Given the description of an element on the screen output the (x, y) to click on. 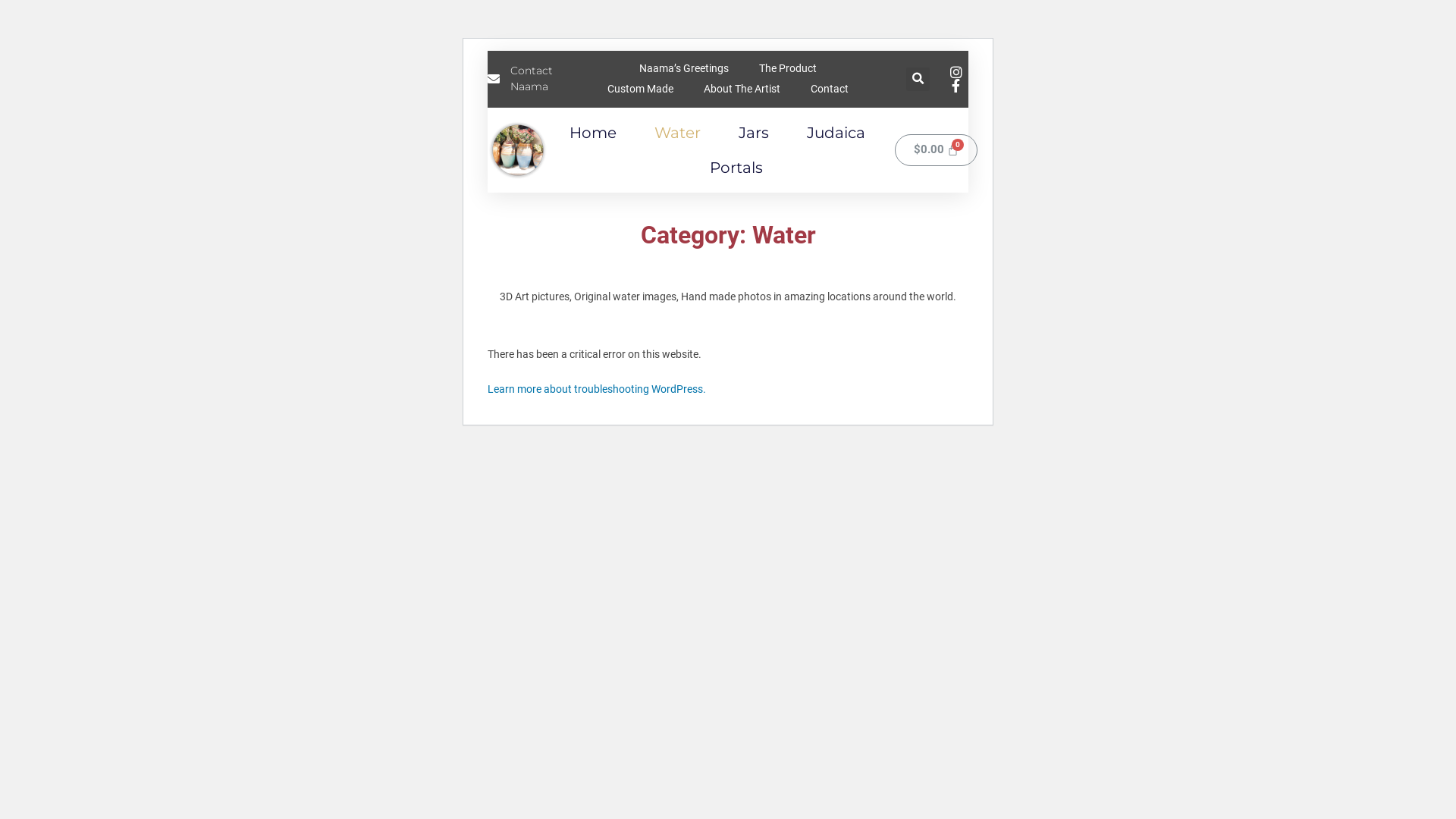
$0.00 Element type: text (936, 150)
Contact Element type: text (829, 88)
About The Artist Element type: text (741, 88)
Jars Element type: text (753, 132)
Naama Yarmuch Element type: hover (517, 149)
The Product Element type: text (787, 68)
Learn more about troubleshooting WordPress. Element type: text (596, 388)
Home Element type: text (592, 132)
Judaica Element type: text (835, 132)
Water Element type: text (677, 132)
Custom Made Element type: text (640, 88)
Contact Naama Element type: text (535, 78)
Portals Element type: text (735, 167)
